Given the description of an element on the screen output the (x, y) to click on. 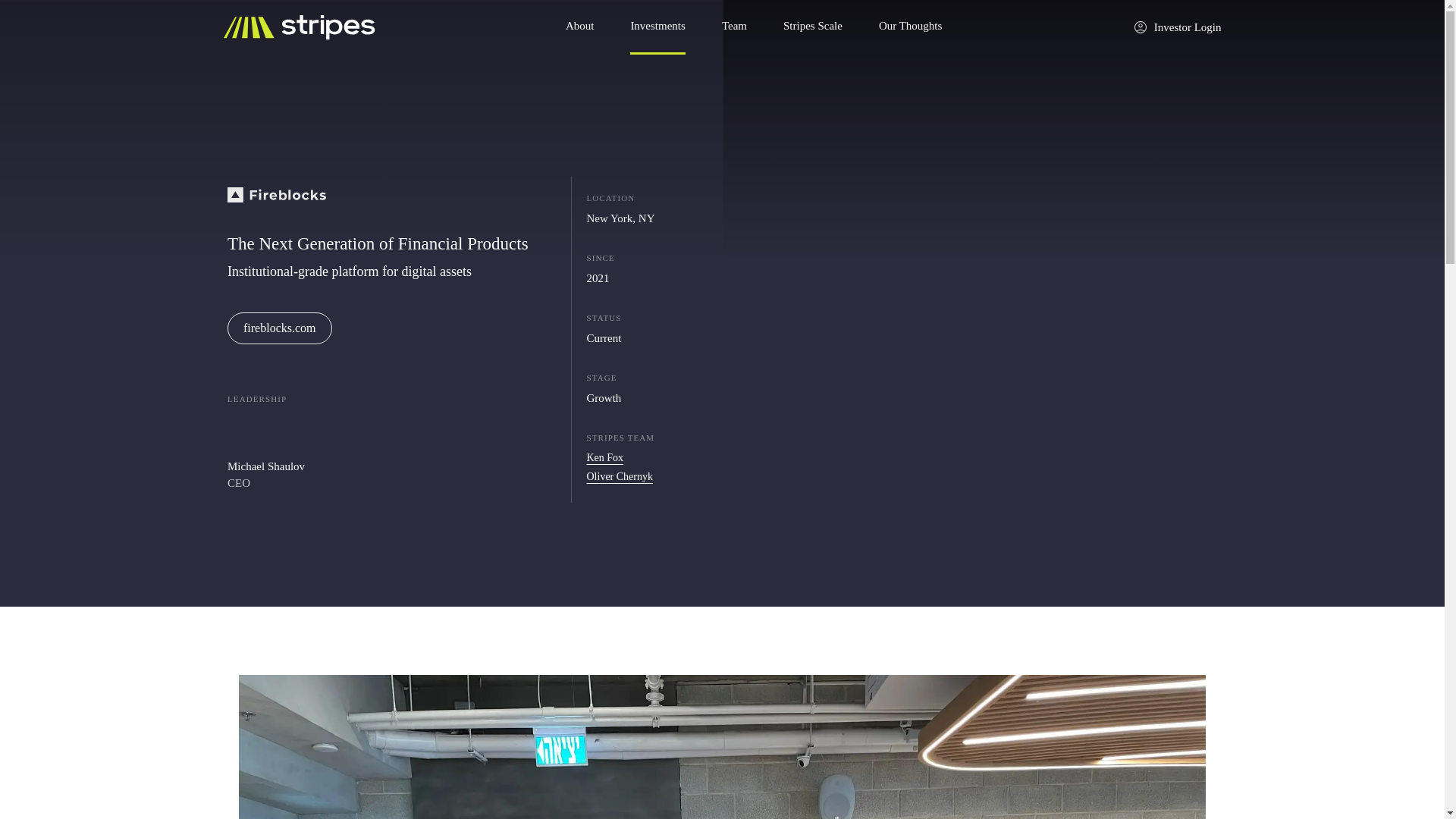
Oliver Chernyk (619, 476)
fireblocks.com (279, 327)
Investor Login (1176, 27)
Stripes Scale (813, 27)
Our Thoughts (910, 27)
Ken Fox (605, 457)
Investments (657, 27)
